Given the description of an element on the screen output the (x, y) to click on. 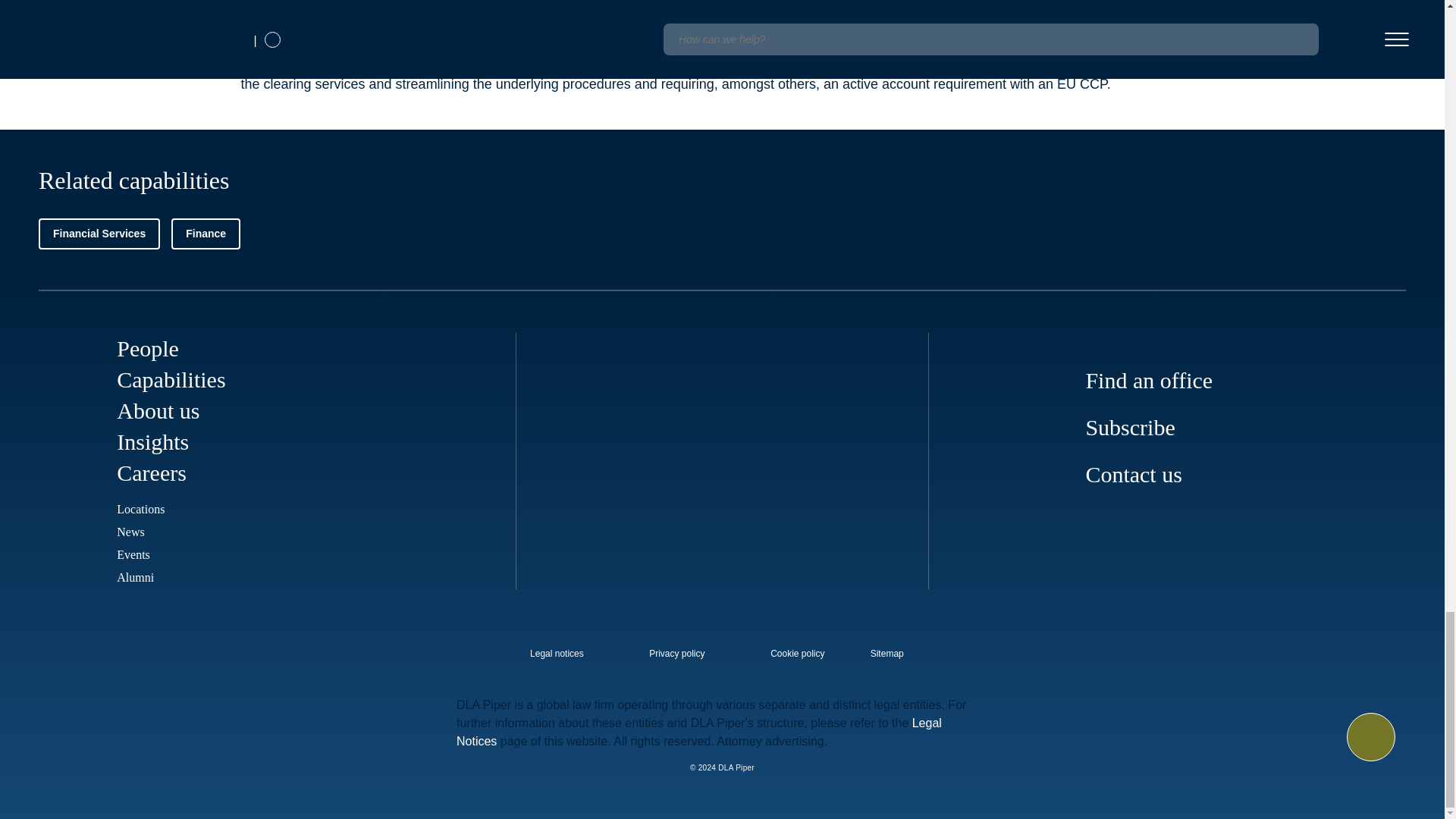
Finance (205, 233)
Insights (152, 441)
Financial Services (99, 233)
News (130, 531)
Capabilities (170, 379)
internal (798, 653)
internal (557, 653)
internal (676, 653)
People (147, 348)
Locations (140, 508)
About us (157, 410)
Careers (151, 472)
Alumni (135, 576)
Events (132, 554)
external (897, 649)
